Given the description of an element on the screen output the (x, y) to click on. 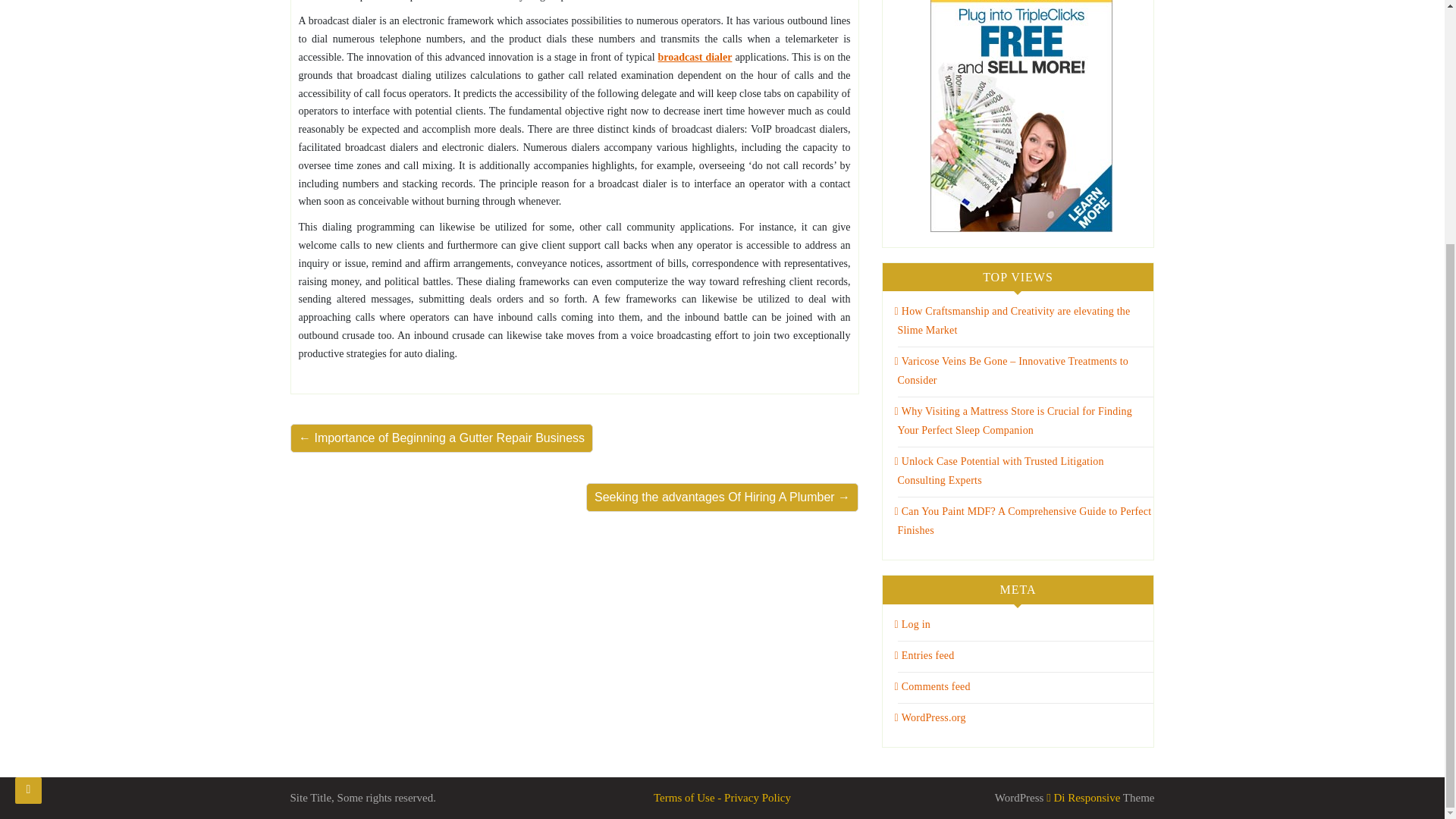
Comments feed (933, 686)
Di Responsive (1082, 797)
Entries feed (925, 655)
WordPress.org (930, 717)
Log in (912, 624)
broadcast dialer (695, 57)
Can You Paint MDF? A Comprehensive Guide to Perfect Finishes (1023, 521)
